Given the description of an element on the screen output the (x, y) to click on. 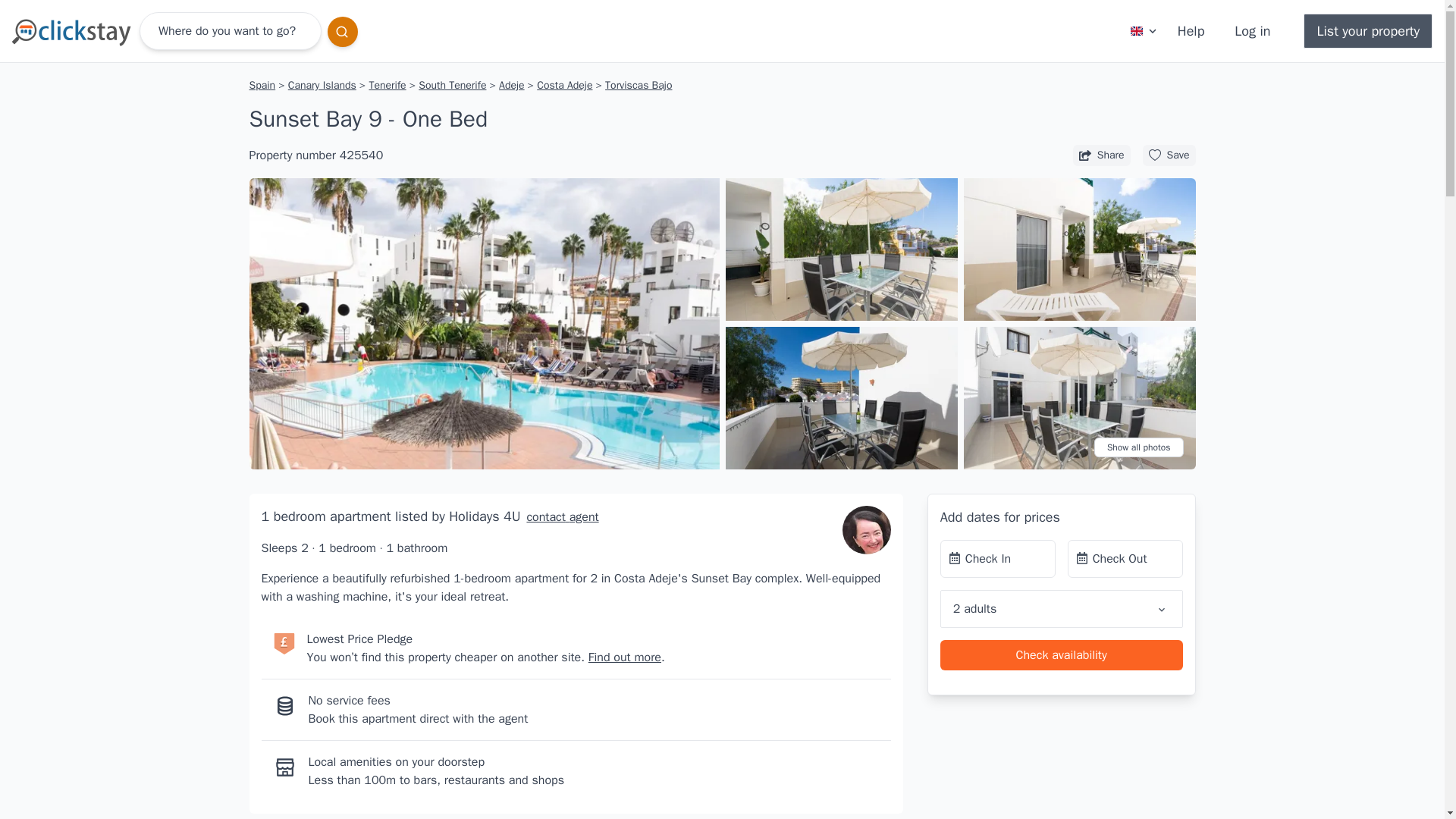
Spain (263, 84)
Tenerife (387, 84)
Find out more (624, 657)
Check Out (1124, 558)
Search (342, 31)
List your property (1367, 30)
South Tenerife (451, 84)
Log in (1252, 30)
Costa Adeje (564, 84)
Torviscas Bajo (638, 84)
Canary Islands (322, 84)
contact agent (558, 516)
Help (1191, 30)
Adeje (511, 84)
Check In (997, 558)
